Given the description of an element on the screen output the (x, y) to click on. 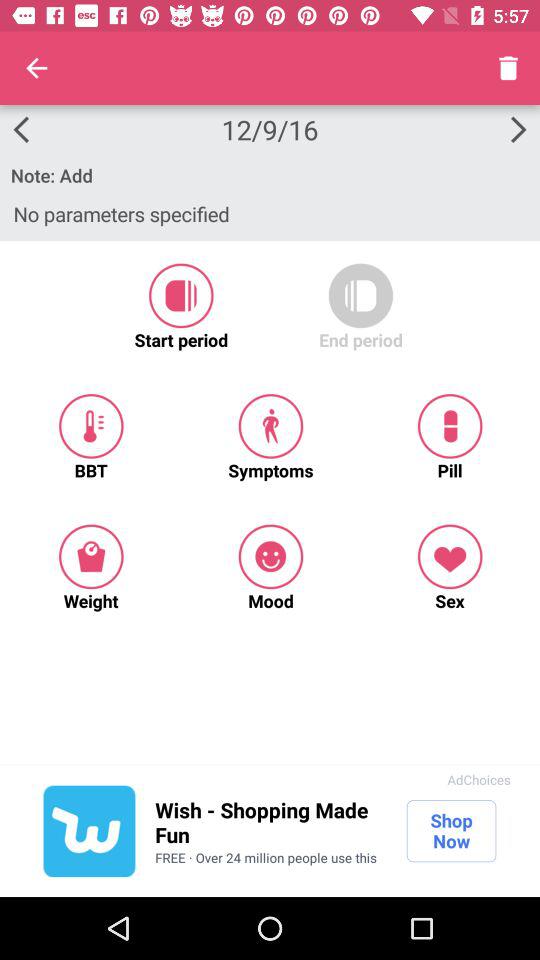
launch the free over 24 item (265, 857)
